Given the description of an element on the screen output the (x, y) to click on. 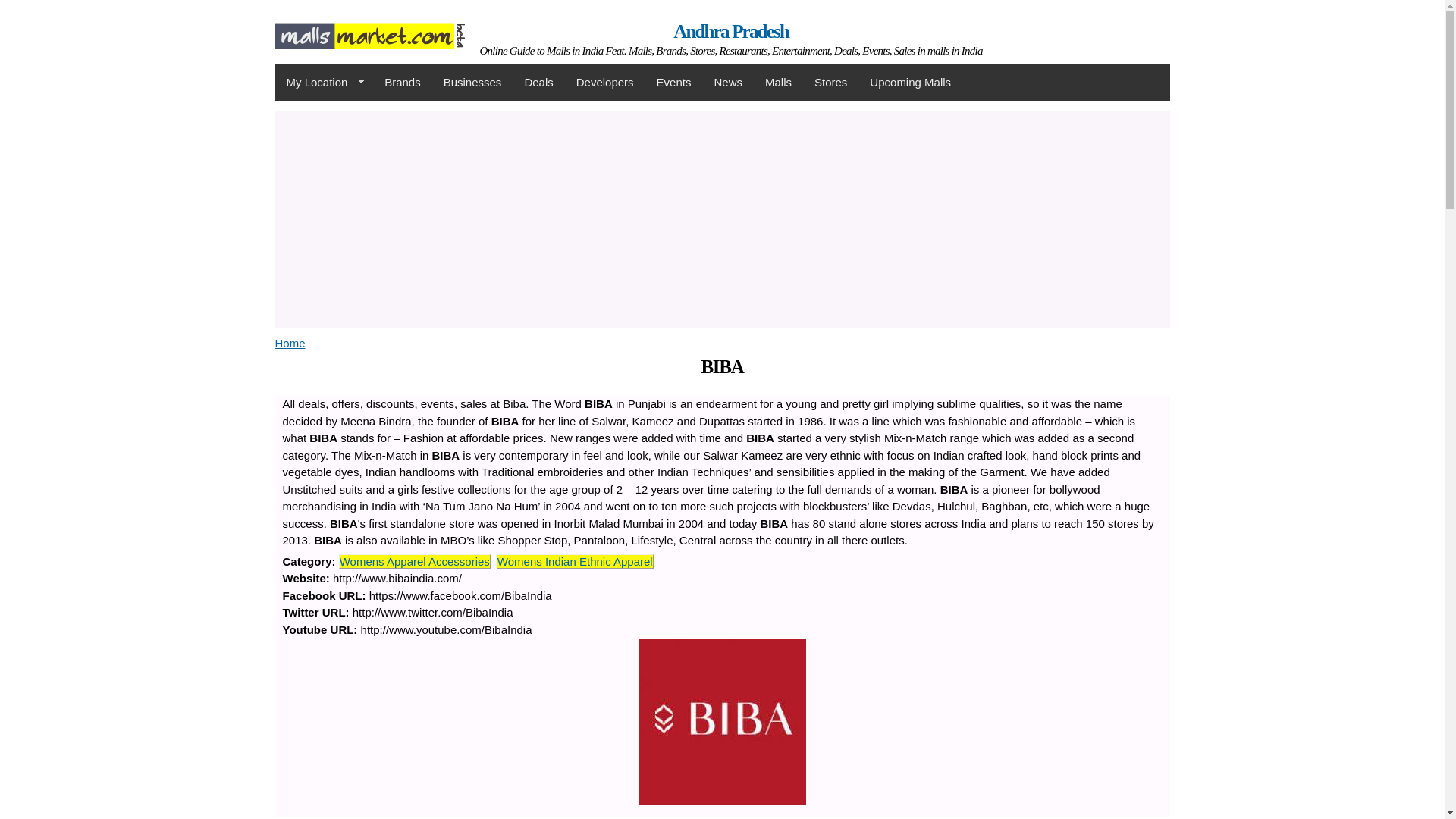
The best deals from stores and malls in your city. (538, 82)
Events (674, 82)
Deals (538, 82)
Skip to main content (688, 1)
Andhra Pradesh (369, 39)
Businesses (472, 82)
Womens Apparel Accessories (414, 561)
News (727, 82)
Brands (402, 82)
Home (730, 31)
